Given the description of an element on the screen output the (x, y) to click on. 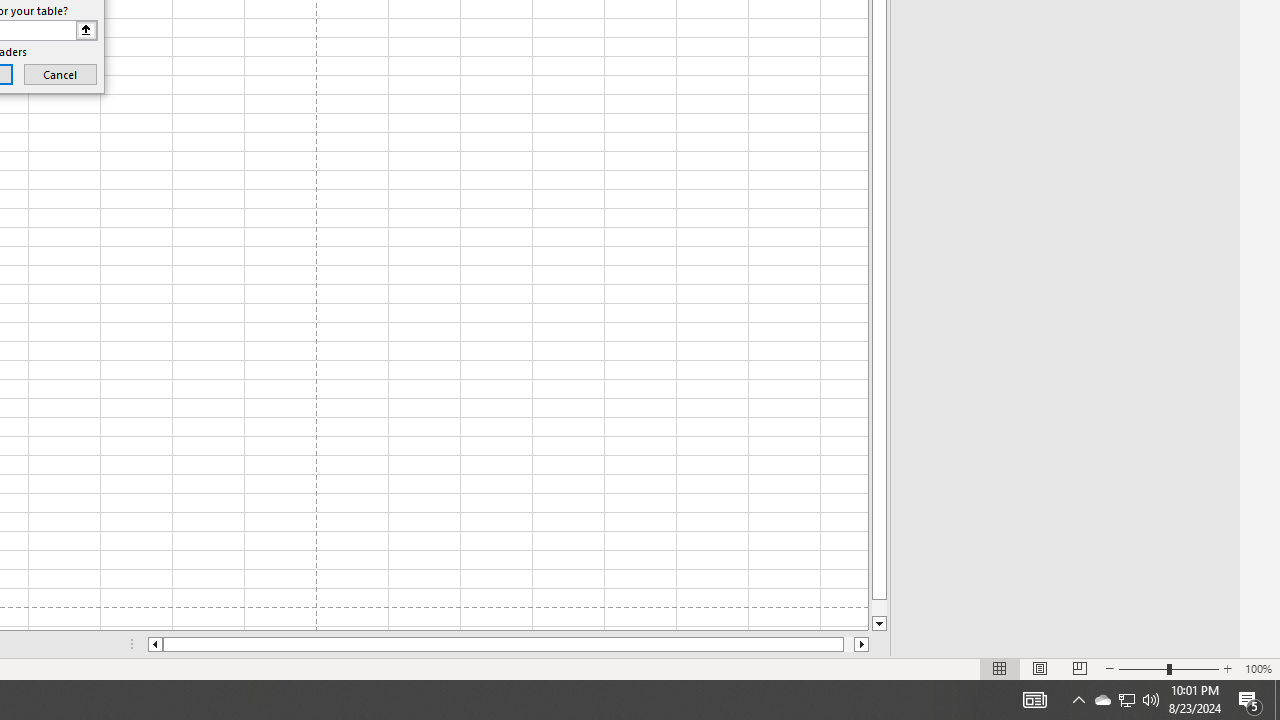
Column left (153, 644)
Page right (848, 644)
Normal (1000, 668)
Page down (879, 607)
Page Break Preview (1079, 668)
Zoom (1168, 668)
Column right (861, 644)
Zoom Out (1142, 668)
Class: NetUIScrollBar (507, 644)
Zoom In (1227, 668)
Line down (879, 624)
